Given the description of an element on the screen output the (x, y) to click on. 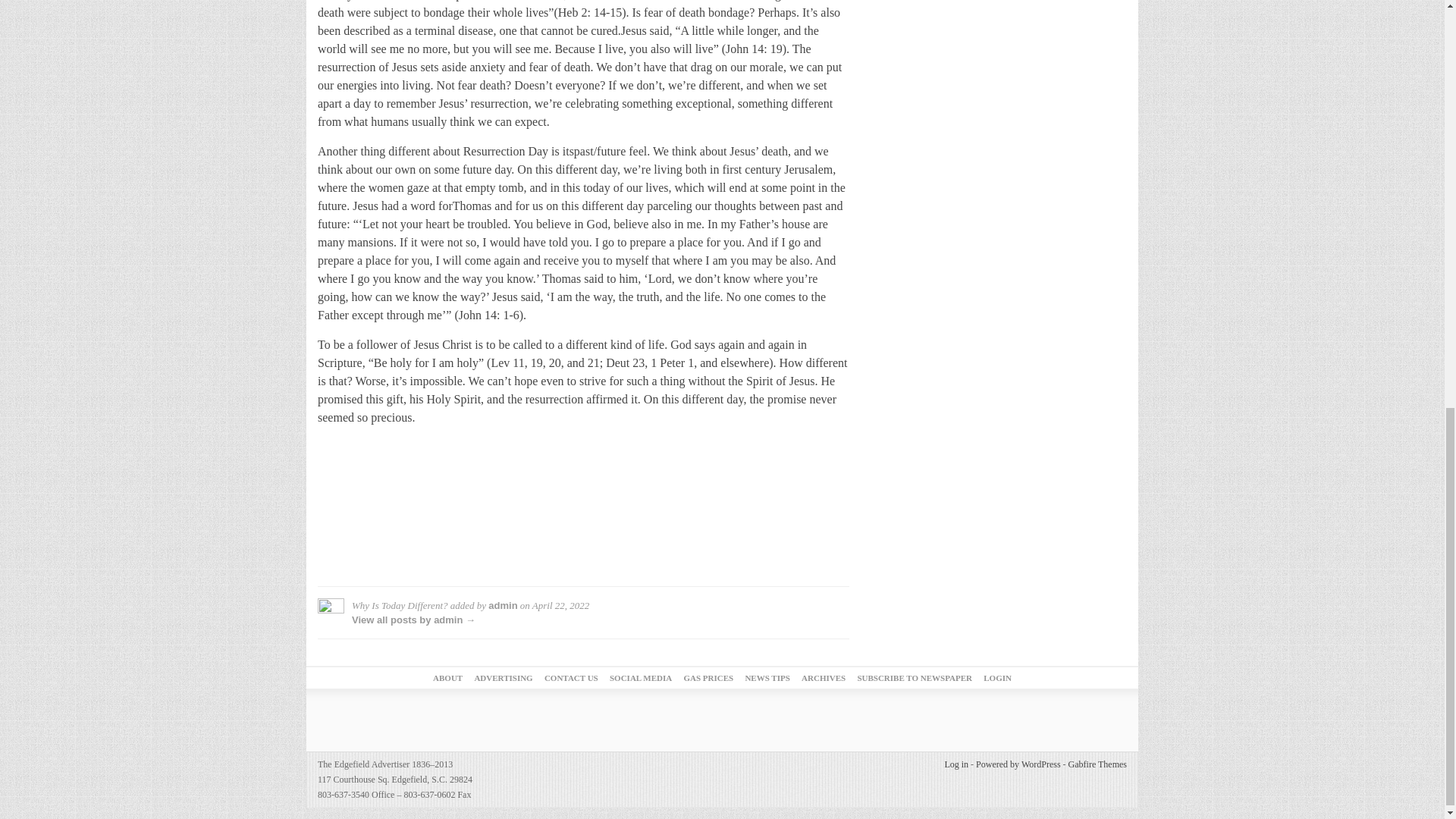
CONTACT US (571, 677)
ARCHIVES (823, 677)
Semantic Personal Publishing Platform (1017, 764)
WordPress Newspaper Themes (1097, 764)
NEWS TIPS (766, 677)
GAS PRICES (707, 677)
SUBSCRIBE TO NEWSPAPER (914, 677)
ABOUT (447, 677)
ADVERTISING (503, 677)
SOCIAL MEDIA (640, 677)
